Given the description of an element on the screen output the (x, y) to click on. 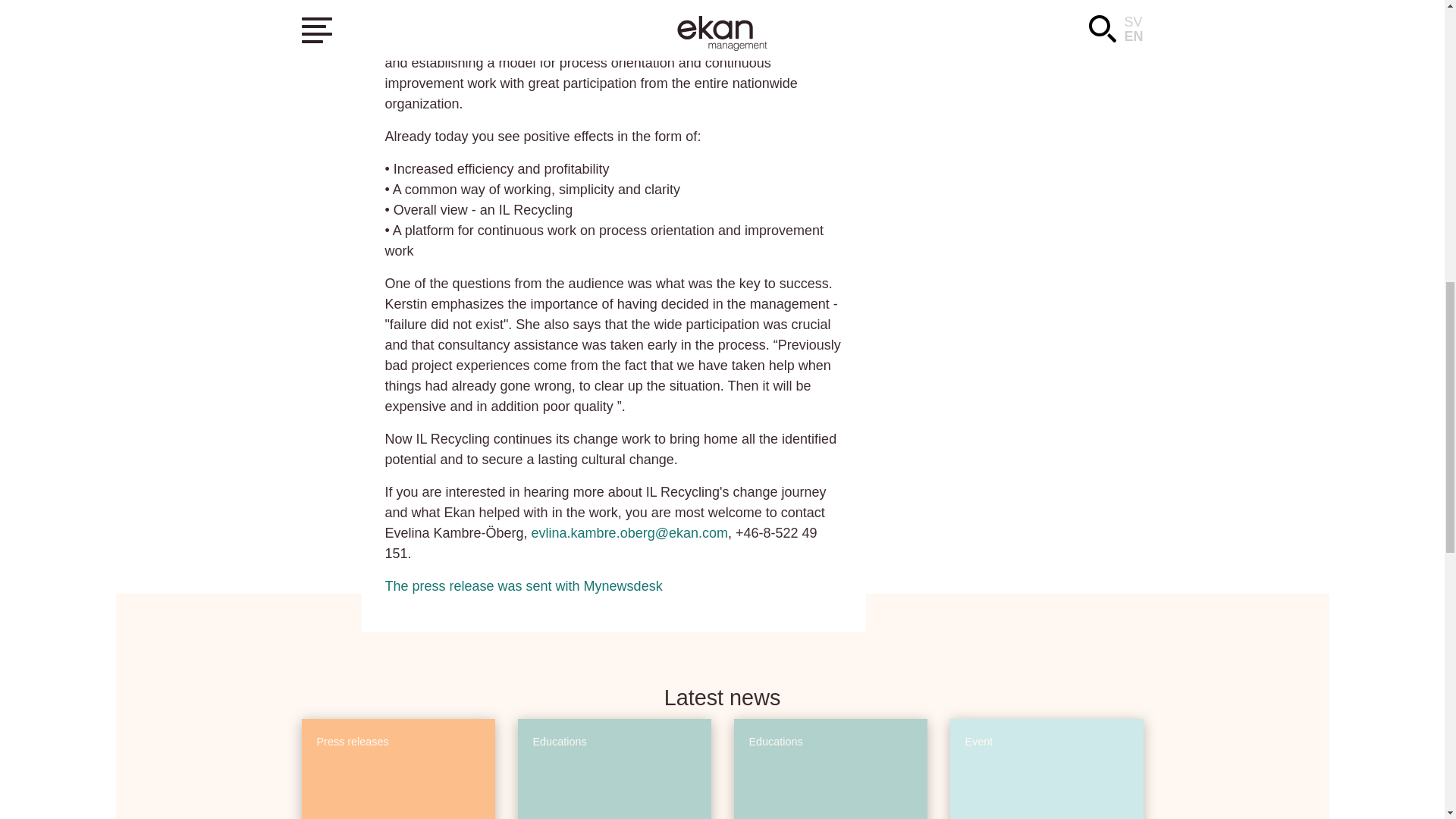
The press release was sent with Mynewsdesk (523, 585)
